Given the description of an element on the screen output the (x, y) to click on. 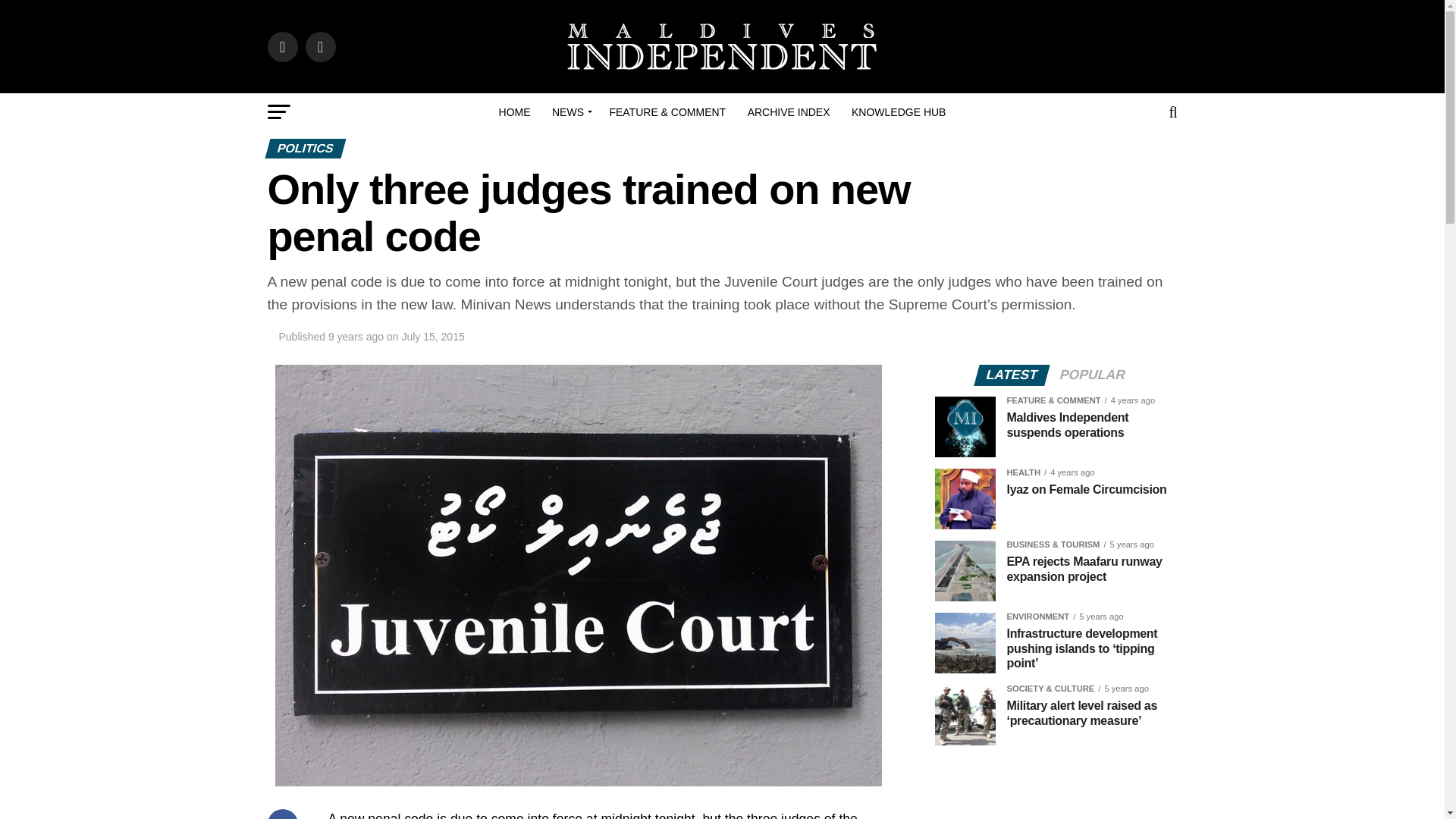
HOME (514, 112)
KNOWLEDGE HUB (899, 112)
ARCHIVE INDEX (789, 112)
NEWS (569, 112)
